Given the description of an element on the screen output the (x, y) to click on. 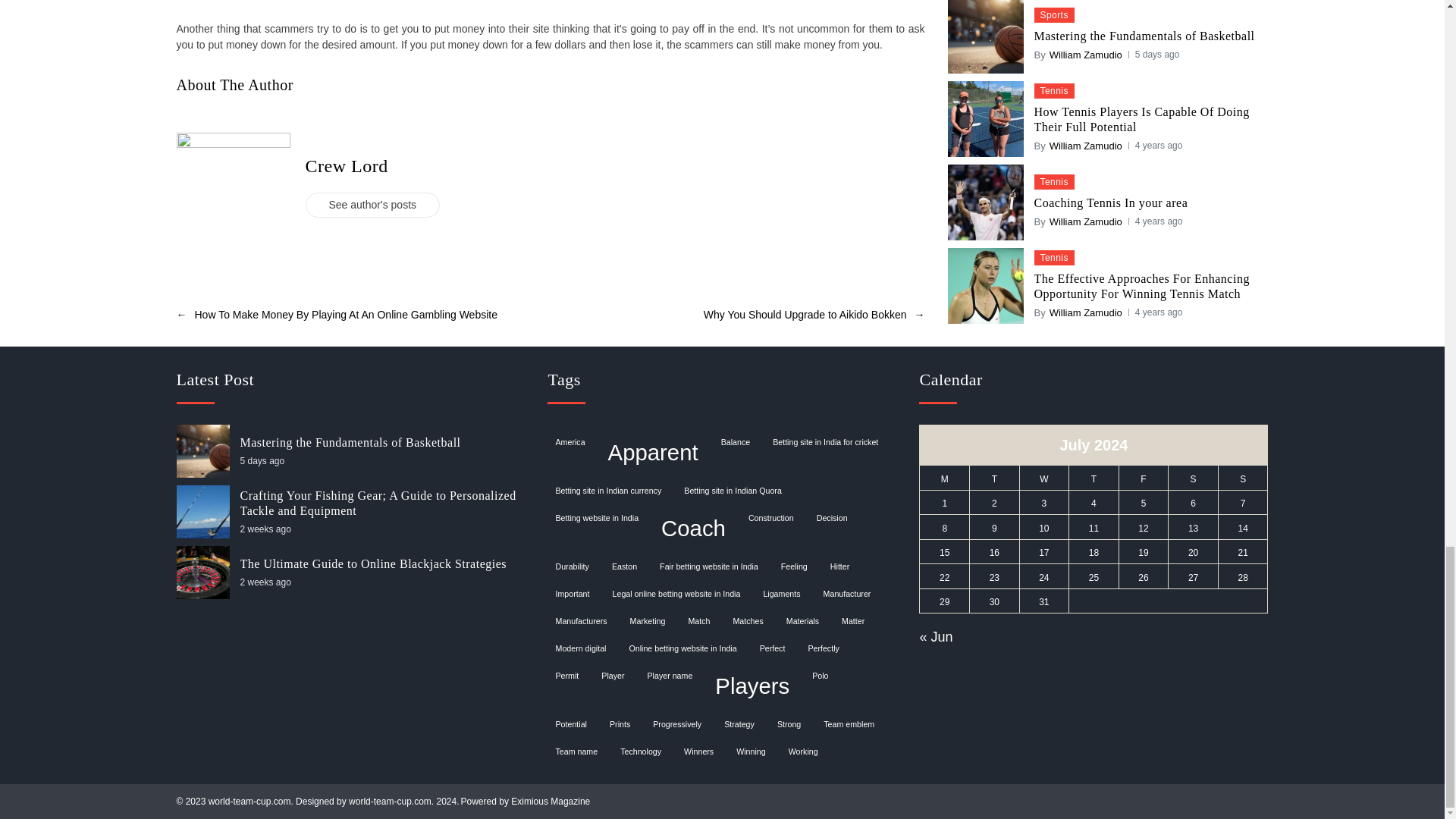
Wednesday (1043, 478)
Sunday (1242, 478)
Thursday (1093, 478)
Friday (1143, 478)
Tuesday (994, 478)
Monday (944, 478)
Saturday (1193, 478)
